Given the description of an element on the screen output the (x, y) to click on. 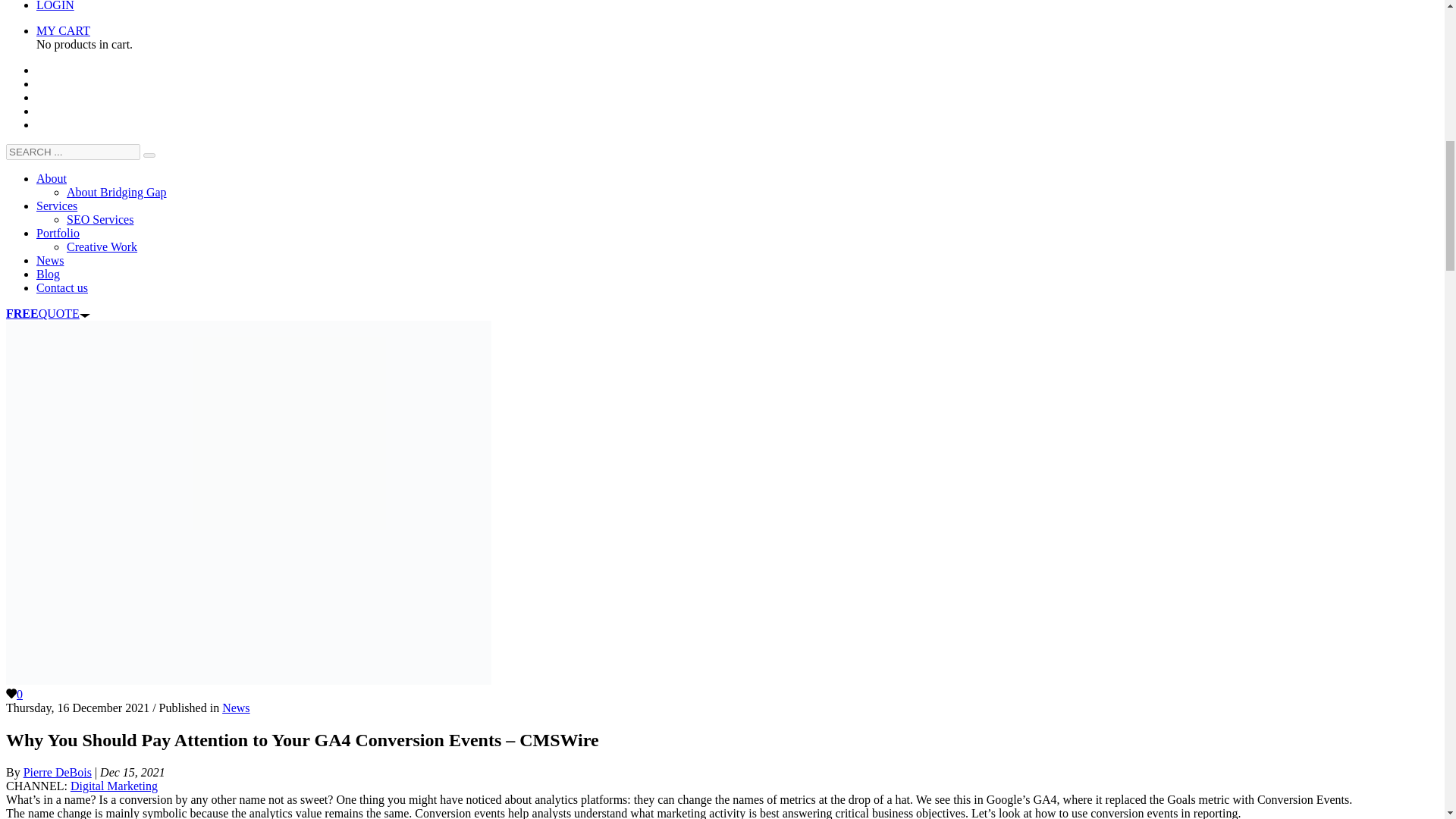
Services (56, 205)
View your shopping cart (63, 30)
FREEQUOTE (47, 313)
go (148, 155)
LOGIN (55, 5)
MY CART (63, 30)
Blog (47, 273)
Portfolio (58, 232)
About (51, 178)
News (50, 259)
SEO Services (99, 219)
Creative Work (101, 246)
0 (14, 694)
Contact us (61, 287)
News (235, 707)
